Given the description of an element on the screen output the (x, y) to click on. 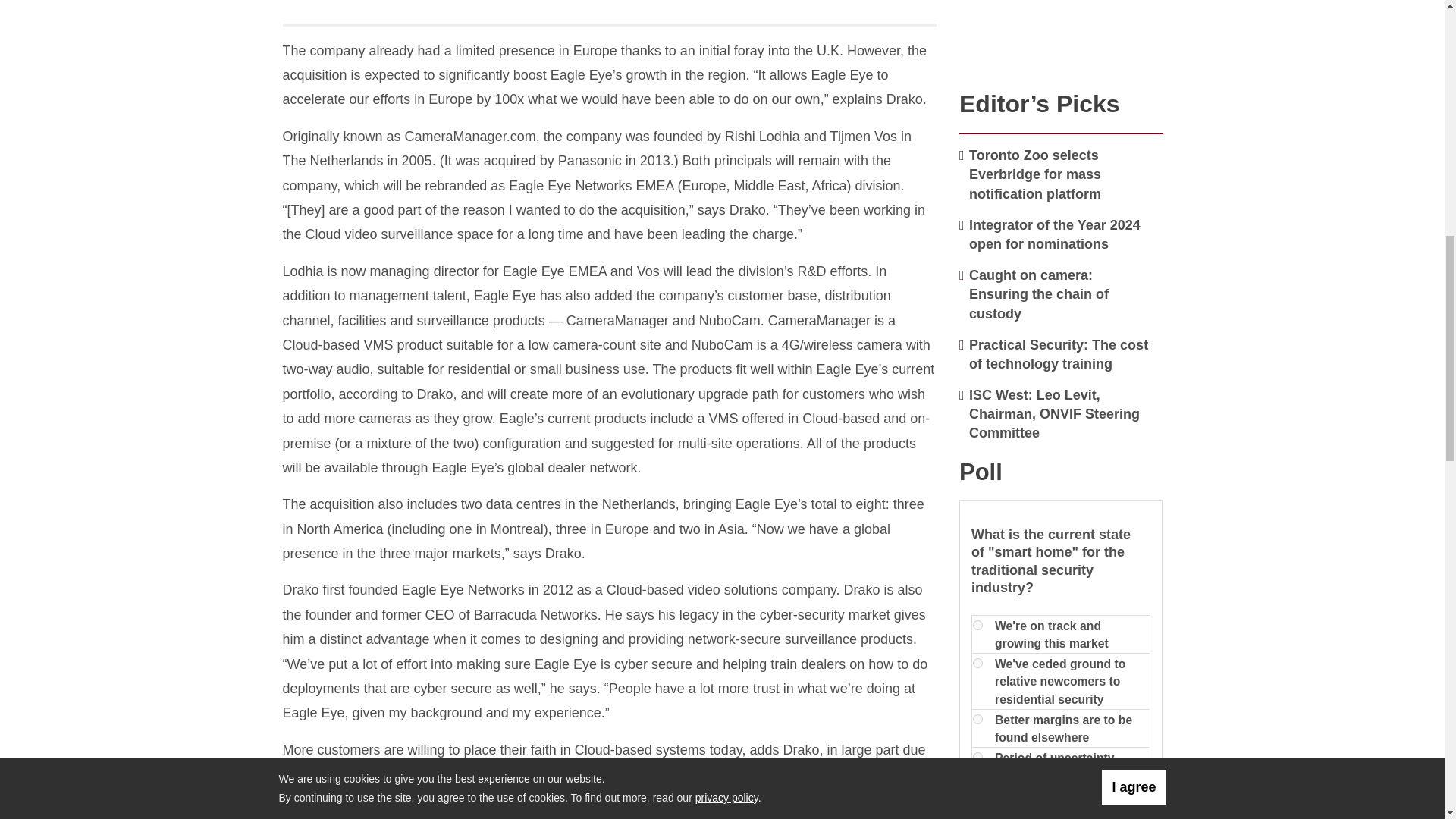
gpoll16eca7826 (977, 663)
gpoll1ef286767 (977, 718)
3rd party ad content (1060, 37)
gpoll156cbdbc4 (977, 624)
Vote (994, 814)
gpoll184b400fc (977, 757)
